Given the description of an element on the screen output the (x, y) to click on. 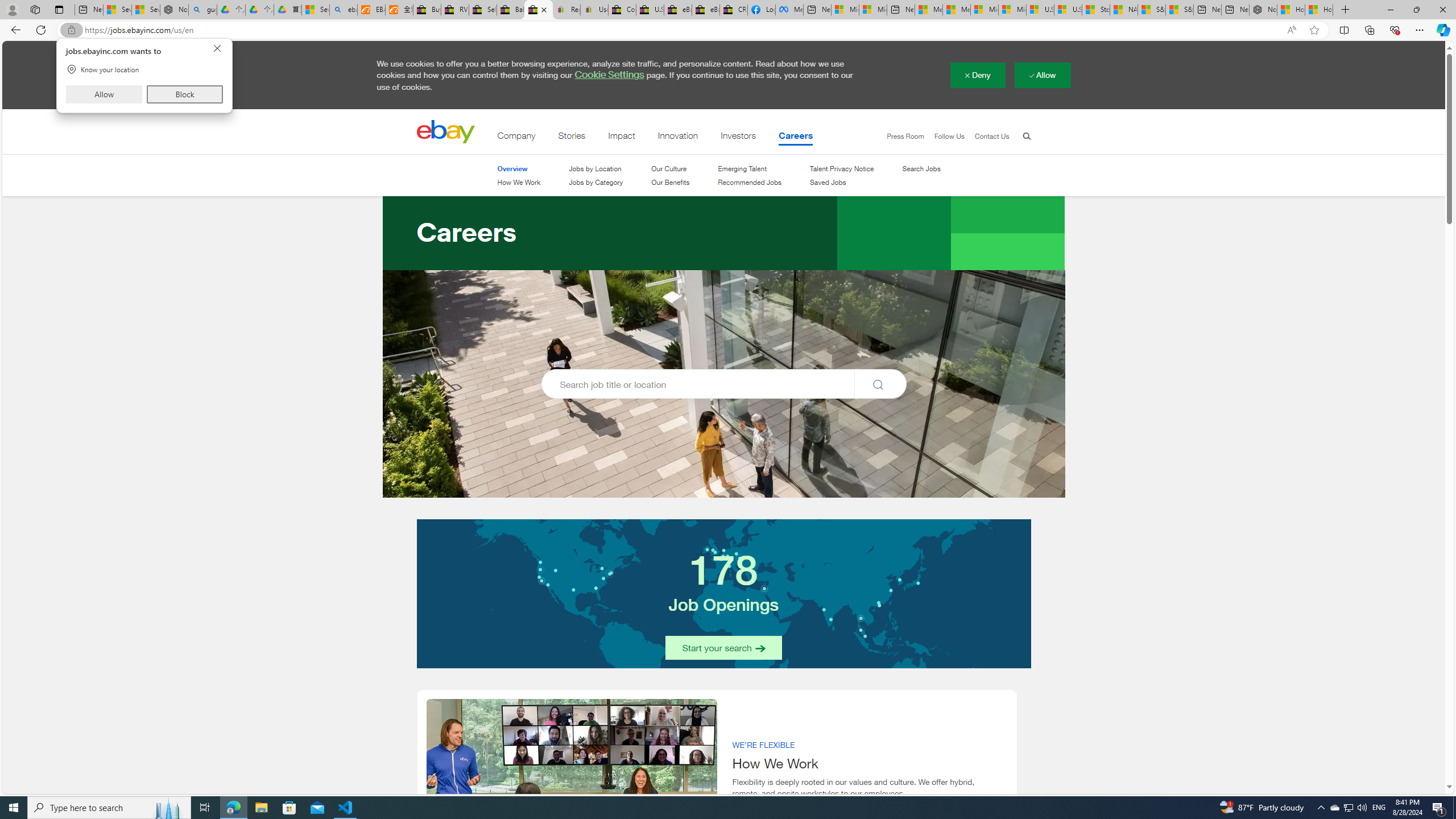
Talent Privacy Notice (841, 168)
Deny (977, 75)
Follow Us (943, 136)
Microsoft account | Privacy (872, 9)
Search Jobs (921, 168)
Baby Keepsakes & Announcements for sale | eBay (1333, 807)
Jobs by Category (510, 9)
Impact (596, 181)
Consumer Health Data Privacy Policy - eBay Inc. (621, 138)
Emerging Talent (621, 9)
